Given the description of an element on the screen output the (x, y) to click on. 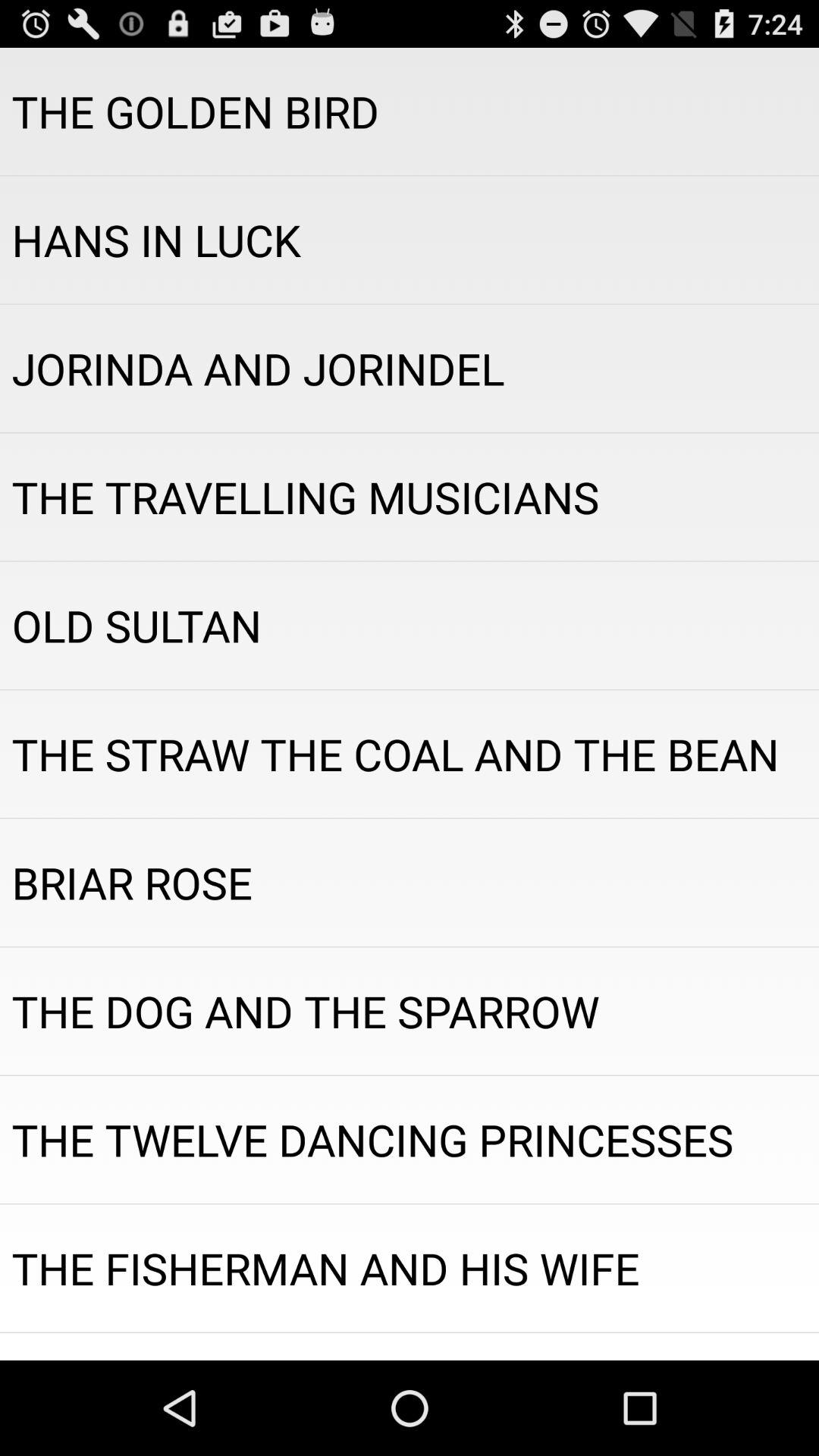
choose app below the hans in luck app (409, 368)
